Given the description of an element on the screen output the (x, y) to click on. 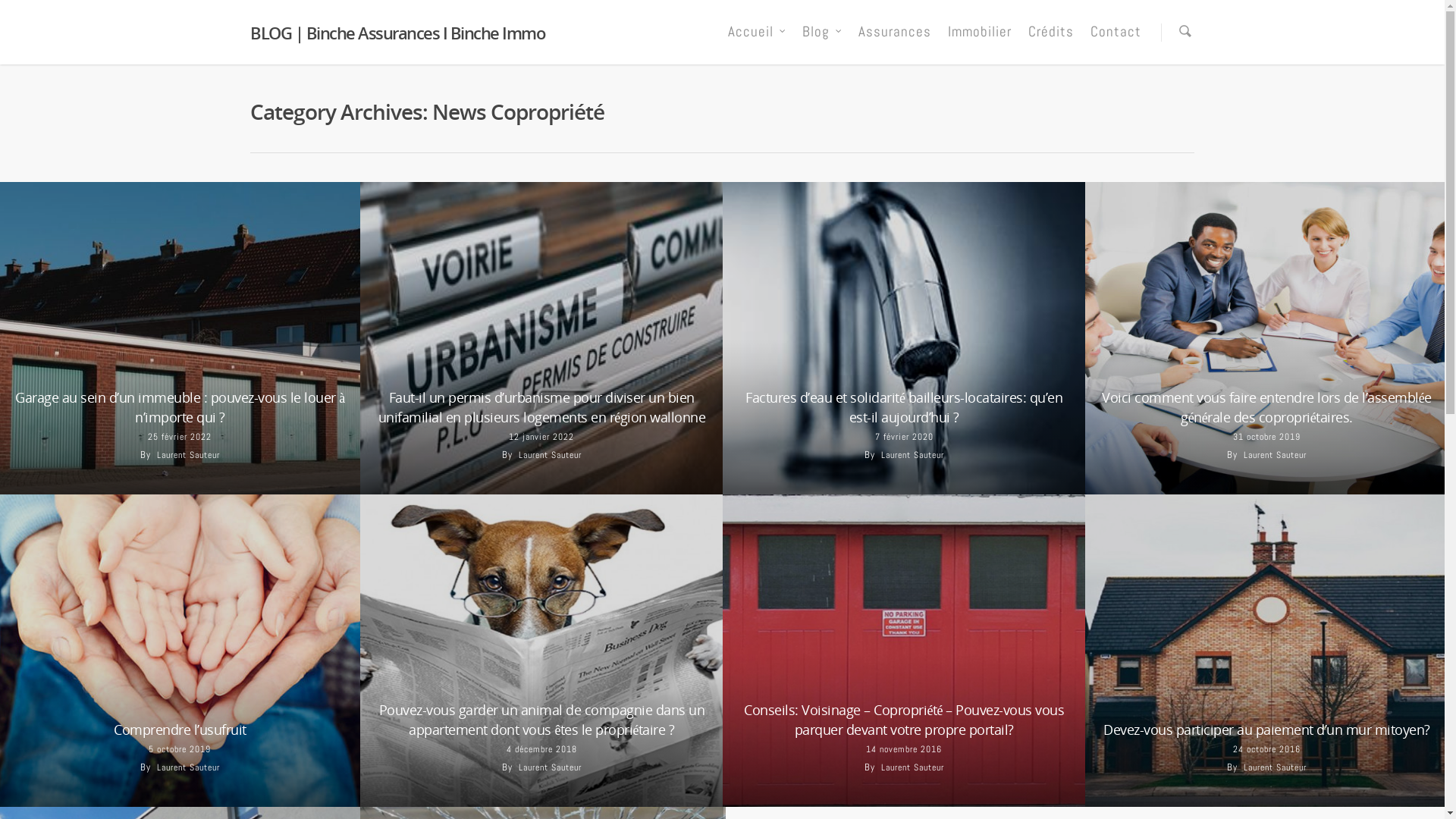
Laurent Sauteur Element type: text (187, 454)
Laurent Sauteur Element type: text (187, 767)
BLOG | Binche Assurances I Binche Immo Element type: text (397, 32)
Laurent Sauteur Element type: text (912, 767)
Blog Element type: text (821, 42)
Laurent Sauteur Element type: text (1274, 454)
Contact Element type: text (1115, 42)
Assurances Element type: text (894, 42)
Laurent Sauteur Element type: text (912, 454)
Immobilier Element type: text (979, 42)
Laurent Sauteur Element type: text (1274, 767)
Laurent Sauteur Element type: text (549, 454)
Accueil Element type: text (756, 42)
Laurent Sauteur Element type: text (549, 767)
